Given the description of an element on the screen output the (x, y) to click on. 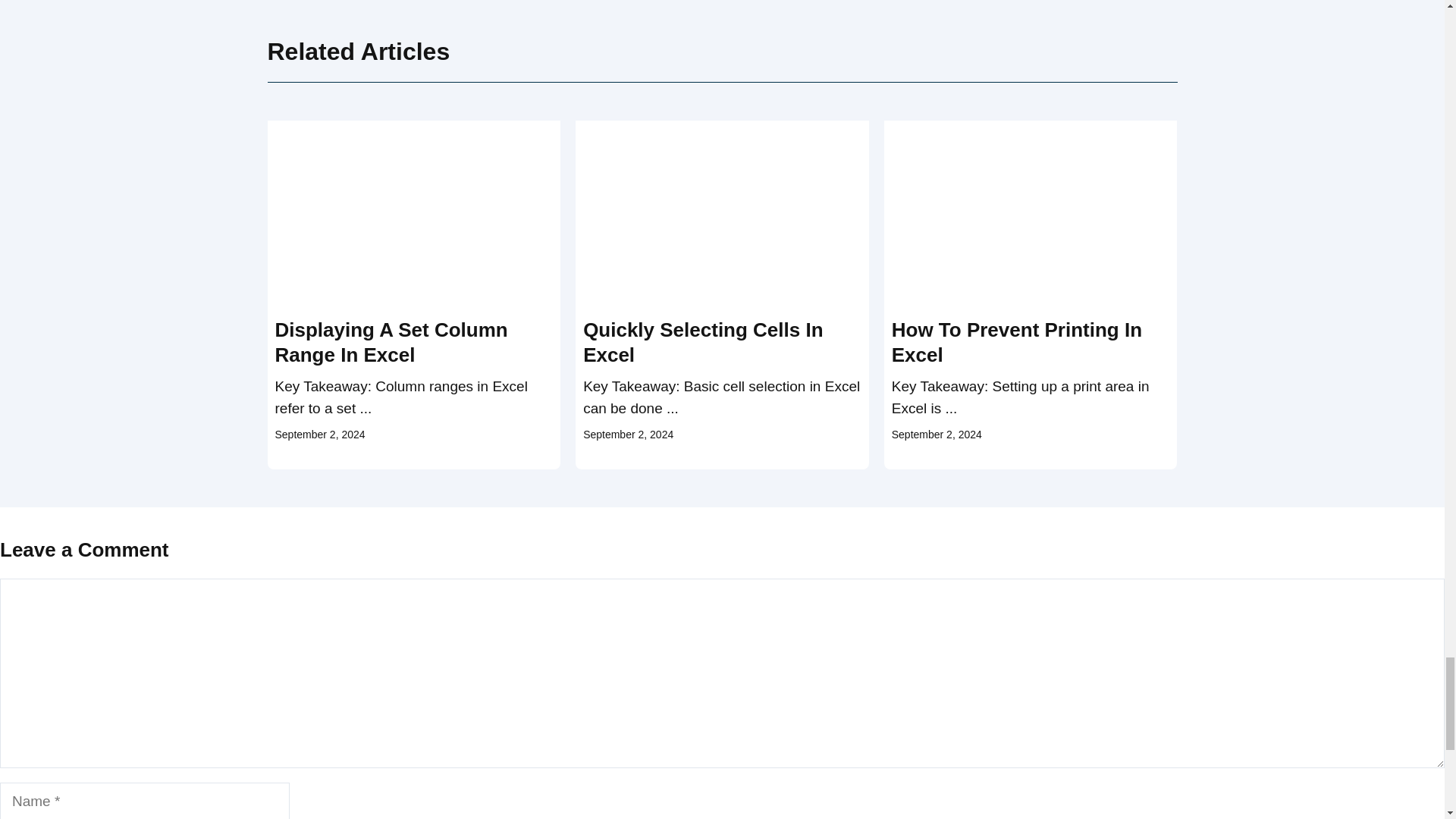
Quickly Selecting Cells In Excel (702, 342)
Displaying A Set Column Range In Excel (390, 342)
How To Prevent Printing In Excel (1016, 342)
